Given the description of an element on the screen output the (x, y) to click on. 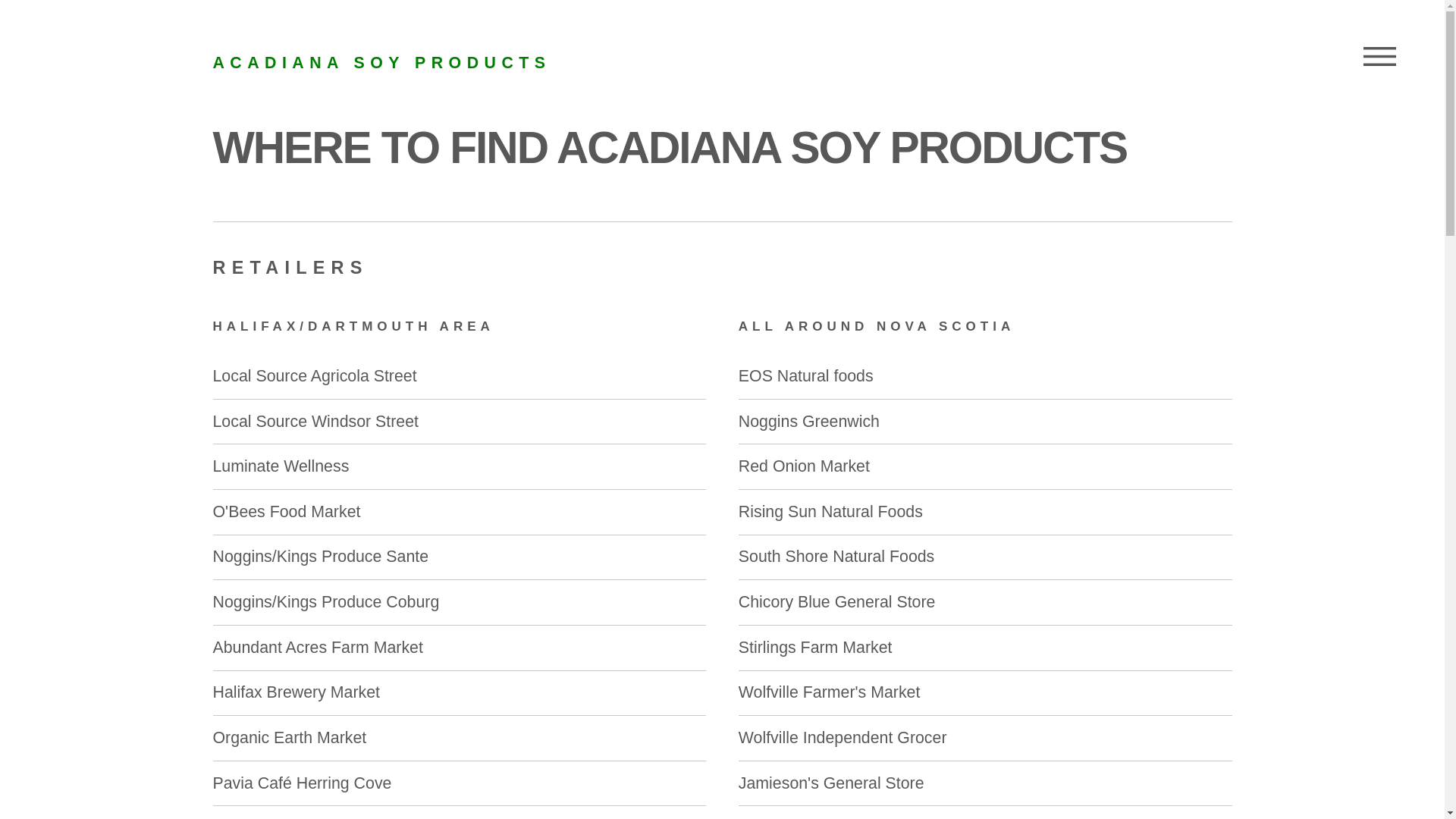
MENU Element type: text (1379, 56)
ACADIANA SOY PRODUCTS Element type: text (381, 62)
